Given the description of an element on the screen output the (x, y) to click on. 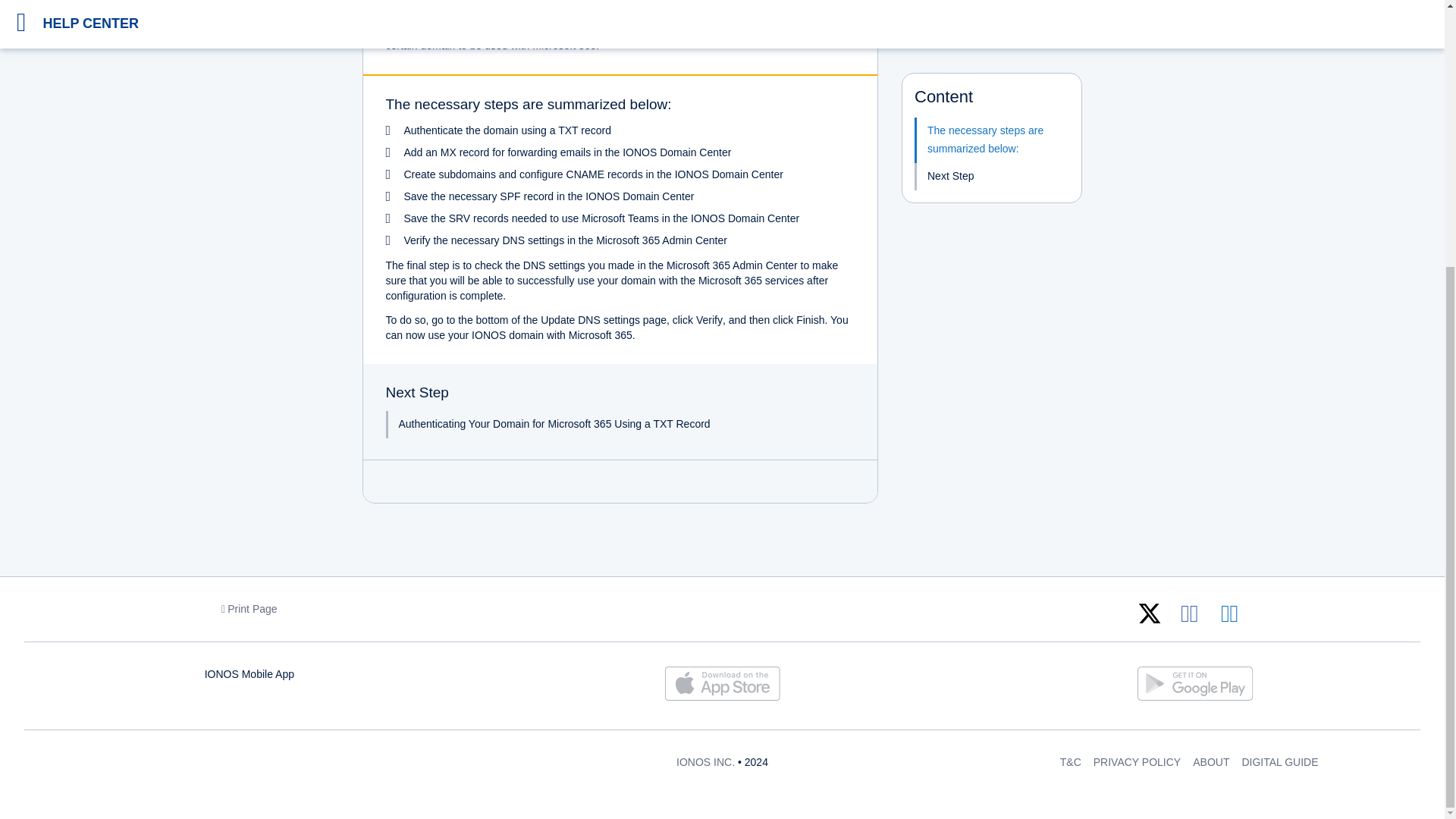
Print Page (249, 608)
ABOUT (1210, 761)
DIGITAL GUIDE (1279, 761)
PRIVACY POLICY (1136, 761)
X icon (1149, 613)
IONOS INC. (706, 761)
Send Article by E-mail (1229, 613)
